Given the description of an element on the screen output the (x, y) to click on. 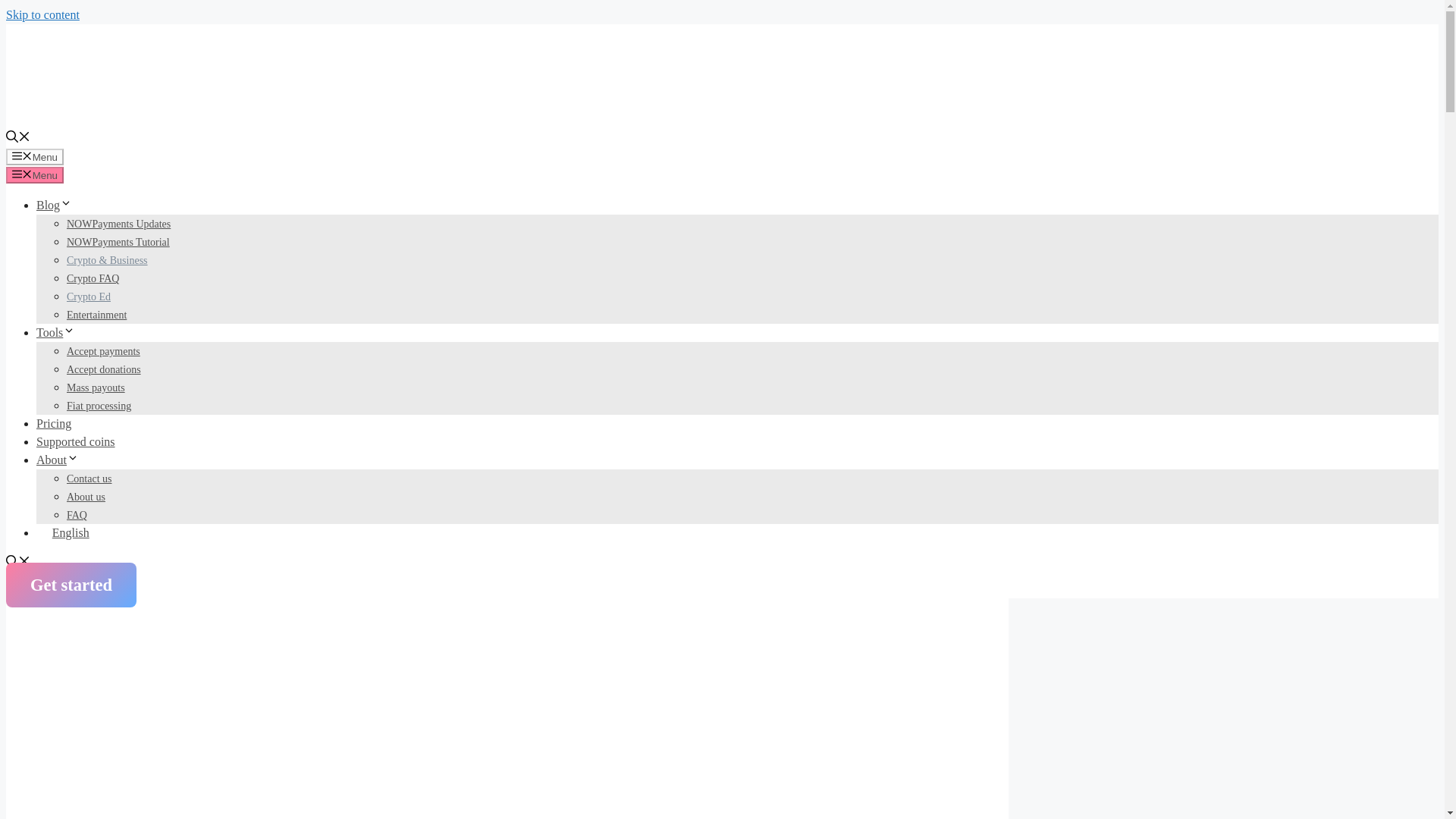
NOWPayments Updates (118, 224)
English (62, 532)
Skip to content (42, 14)
blog about crypto payments (53, 205)
Pricing (53, 422)
Supported coins (75, 440)
Menu (34, 156)
Entertainment (96, 315)
Contact us (89, 478)
Accept donations (103, 369)
Mass payouts (95, 387)
About us (85, 496)
About (57, 459)
Fiat processing (98, 405)
Crypto Ed (88, 296)
